Given the description of an element on the screen output the (x, y) to click on. 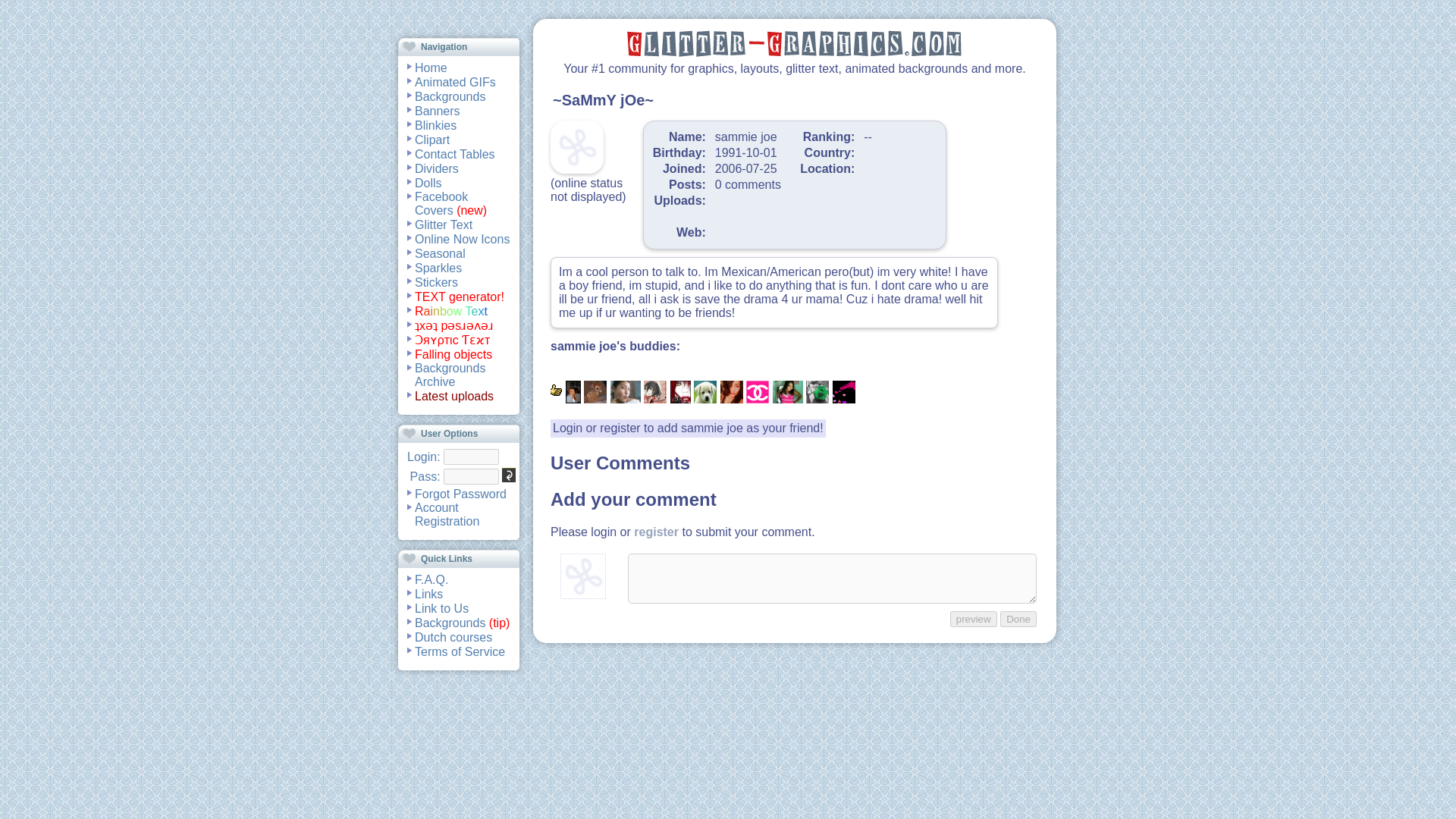
Seasonal (439, 253)
Sparkles (437, 267)
Falling objects (453, 353)
Banners (437, 110)
Stickers (436, 282)
Terms of Service (459, 650)
Online Now Icons (461, 237)
preview (973, 618)
Backgrounds (449, 95)
Contact Tables (454, 153)
